Given the description of an element on the screen output the (x, y) to click on. 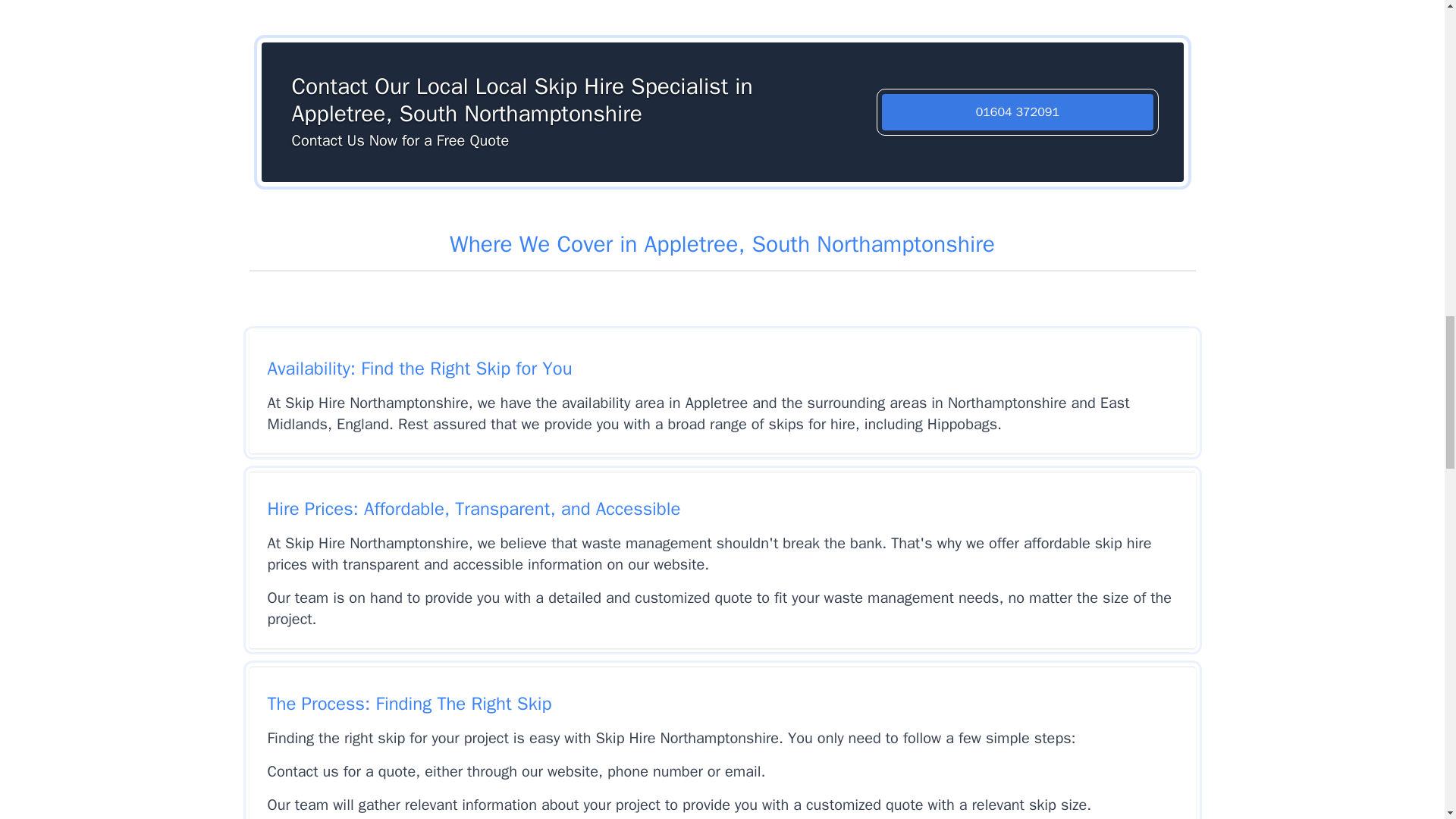
01604 372091 (1017, 112)
